Given the description of an element on the screen output the (x, y) to click on. 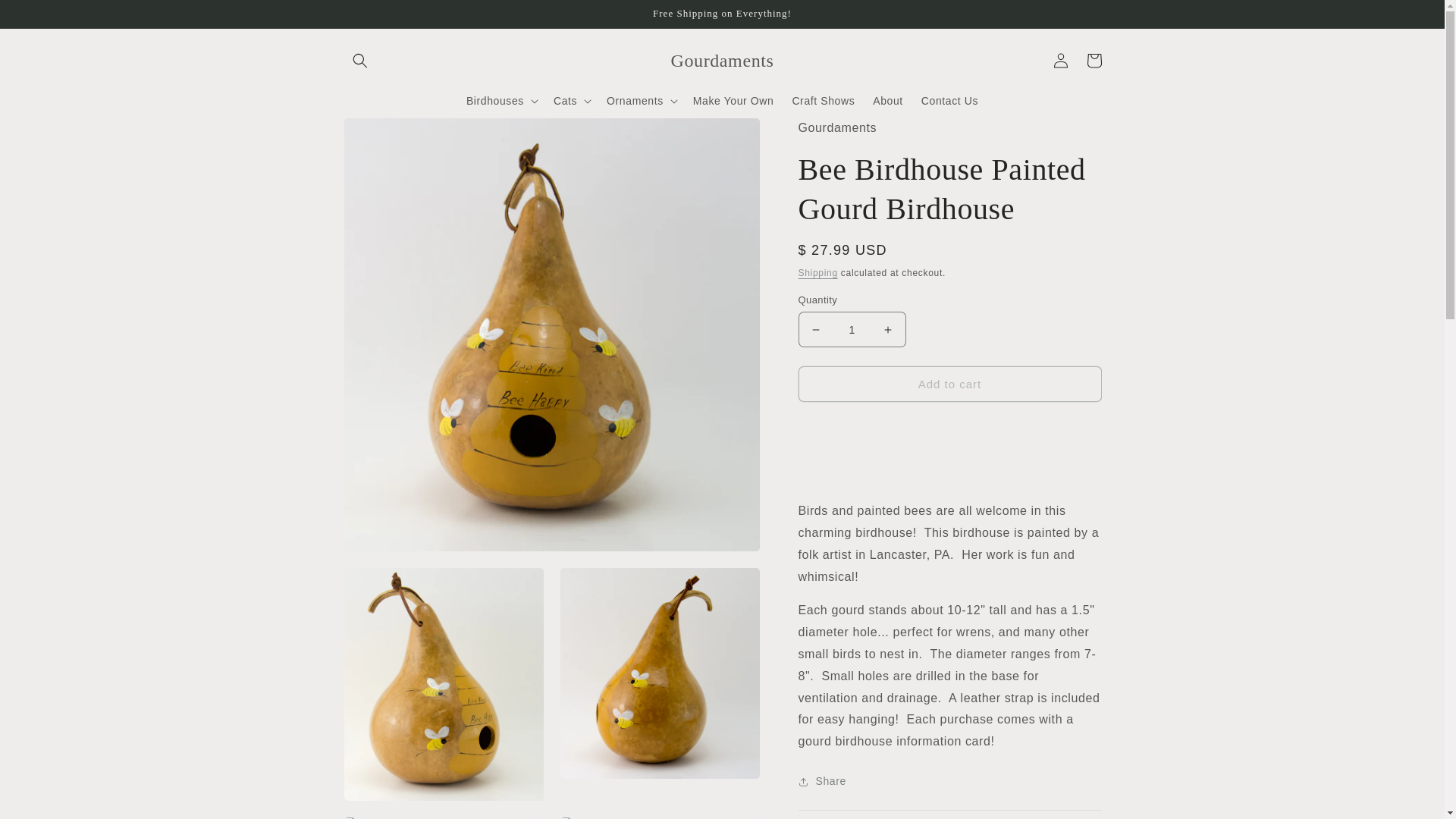
Skip to content (45, 17)
Craft Shows (823, 101)
1 (851, 329)
Gourdaments (721, 60)
Make Your Own (733, 101)
